Given the description of an element on the screen output the (x, y) to click on. 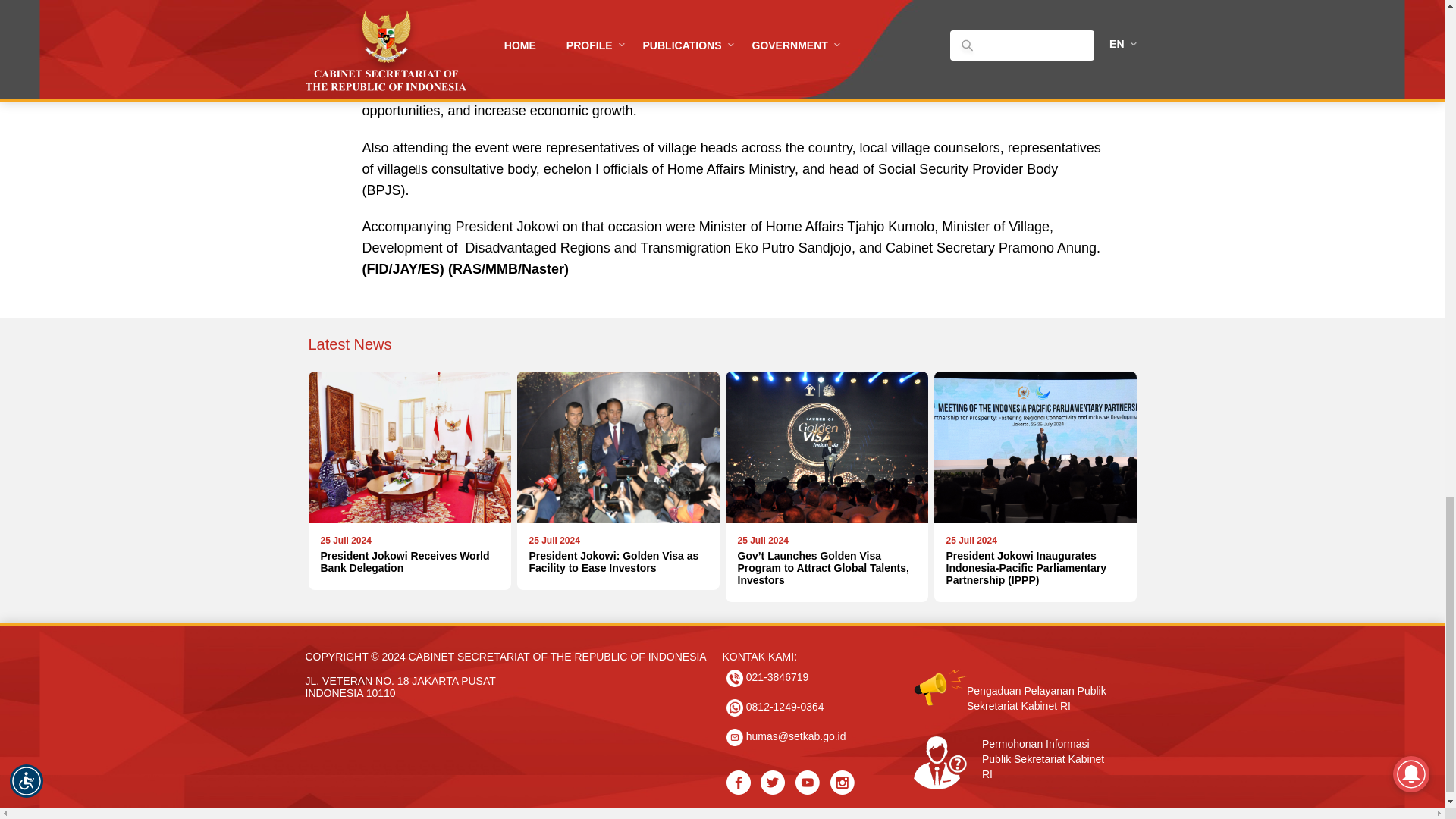
021-3846719 (767, 678)
Pengaduan Pelayanan Publik Sekretariat Kabinet RI (1014, 677)
Permohonan Informasi Publik Sekretariat Kabinet RI (409, 480)
0812-1249-0364 (1014, 745)
